Given the description of an element on the screen output the (x, y) to click on. 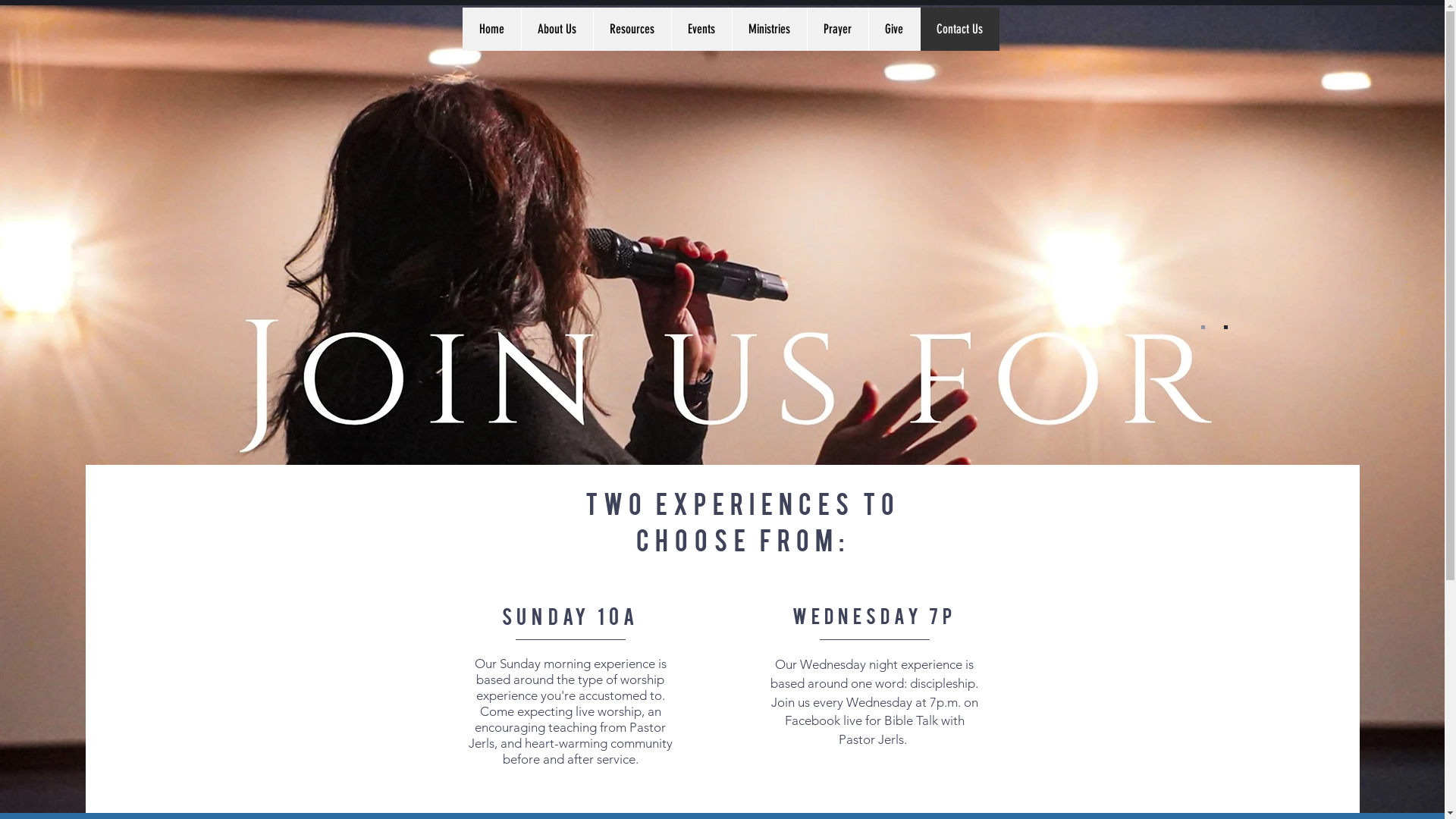
Contact Us Element type: text (958, 28)
Events Element type: text (700, 28)
Give Element type: text (893, 28)
Ministries Element type: text (768, 28)
Prayer Element type: text (837, 28)
Home Element type: text (491, 28)
